Given the description of an element on the screen output the (x, y) to click on. 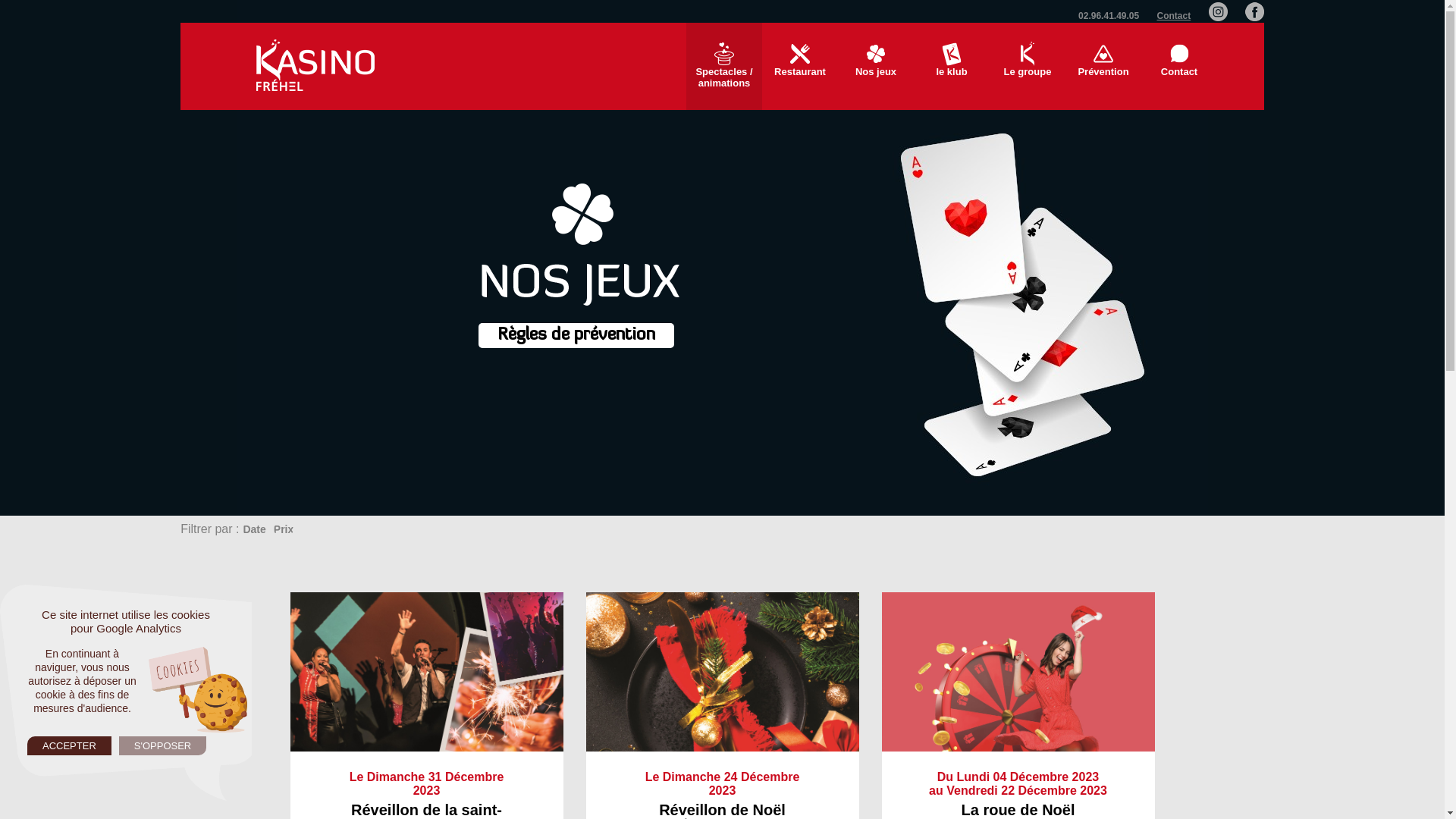
le klub Element type: text (951, 65)
Restaurant Element type: text (799, 65)
S'OPPOSER Element type: text (162, 745)
Spectacles / animations Element type: text (724, 65)
Date Element type: text (253, 529)
Le groupe Element type: text (1027, 65)
Contact Element type: text (1179, 65)
Prix Element type: text (283, 529)
Contact Element type: text (1174, 15)
Nos jeux Element type: text (875, 65)
ACCEPTER Element type: text (69, 745)
